Given the description of an element on the screen output the (x, y) to click on. 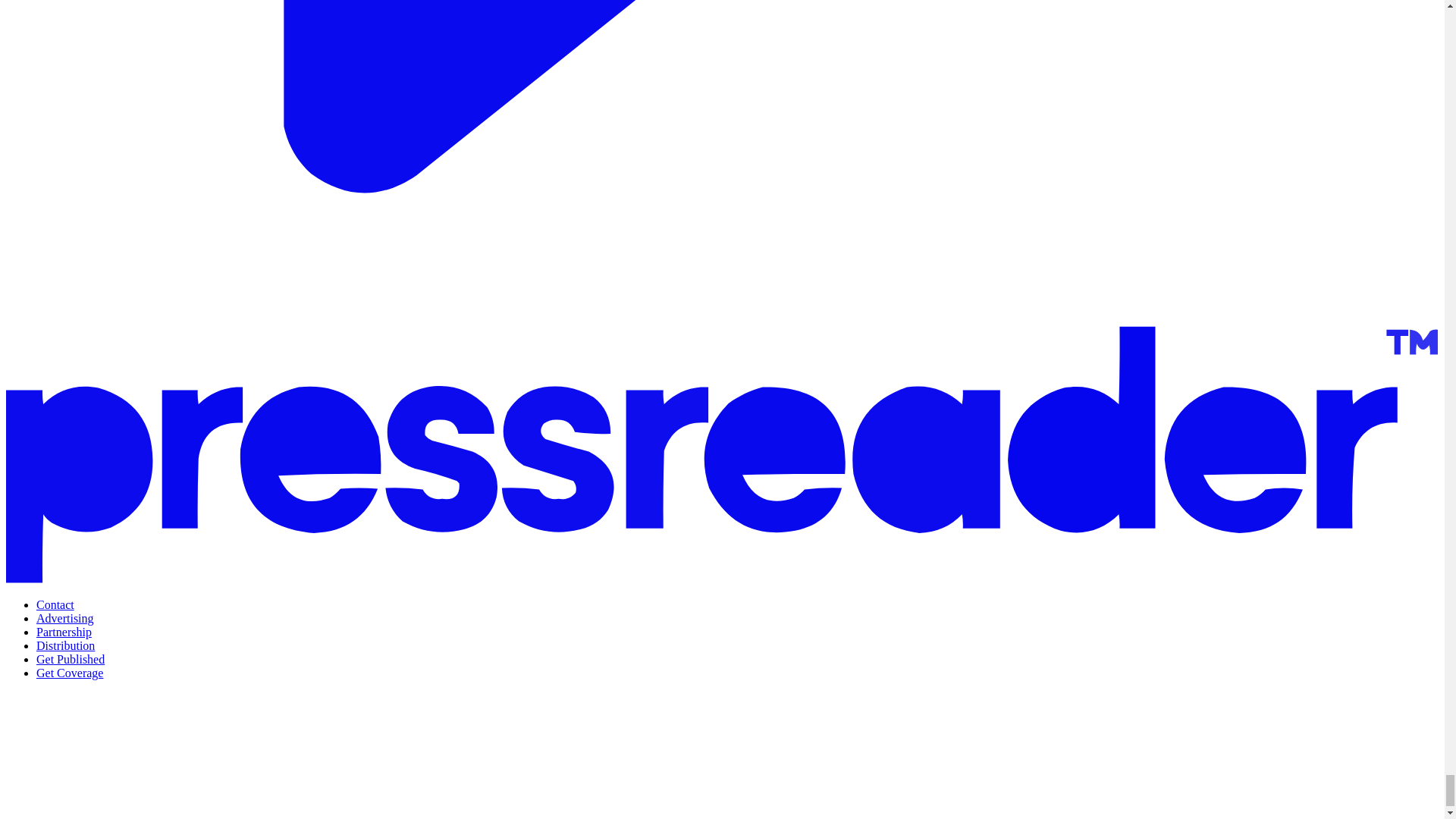
Get Published (70, 658)
Get Coverage (69, 672)
Distribution (65, 645)
Advertising (65, 617)
Partnership (63, 631)
Contact (55, 604)
